Given the description of an element on the screen output the (x, y) to click on. 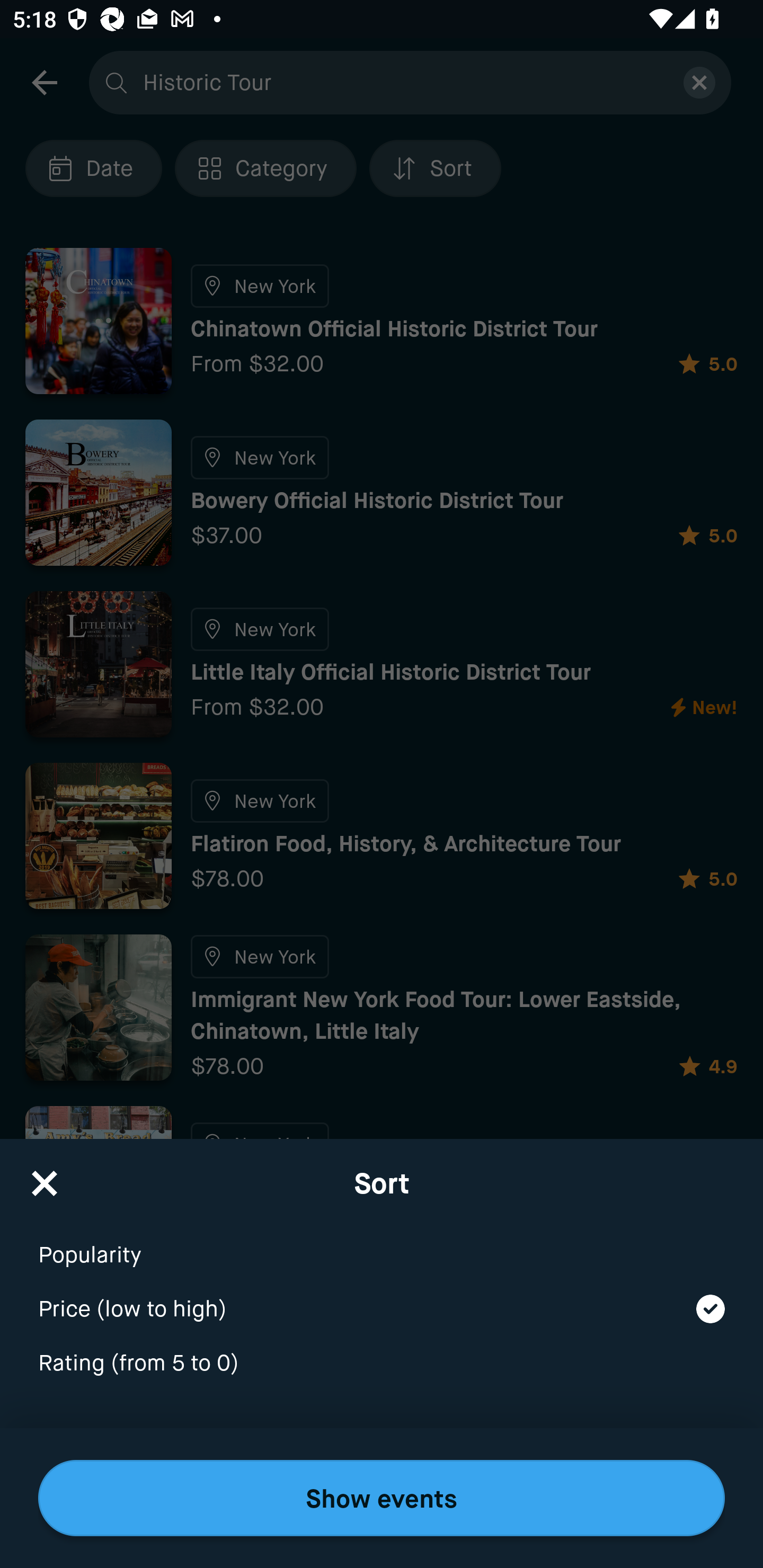
CloseButton (44, 1177)
Popularity (381, 1243)
Price (low to high) Selected Icon (381, 1297)
Rating (from 5 to 0) (381, 1362)
Show events (381, 1497)
